Given the description of an element on the screen output the (x, y) to click on. 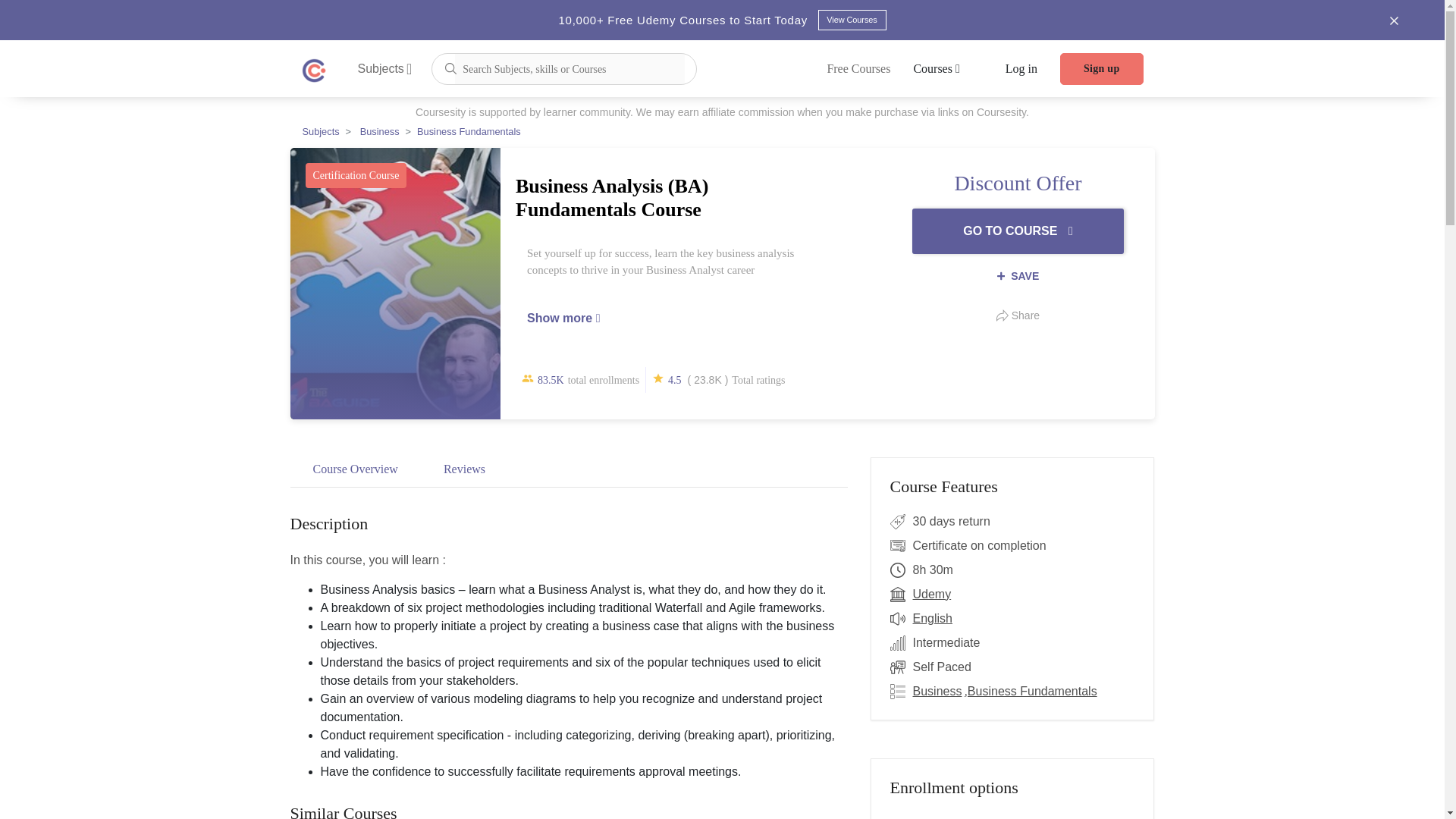
Certification (900, 546)
Level (900, 642)
Free Trial (900, 521)
View Courses (850, 19)
Offered by (900, 594)
Submit the search query. (450, 67)
Topics (900, 691)
Audio (900, 618)
Duration (900, 570)
Subjects (384, 68)
Type (900, 667)
